Given the description of an element on the screen output the (x, y) to click on. 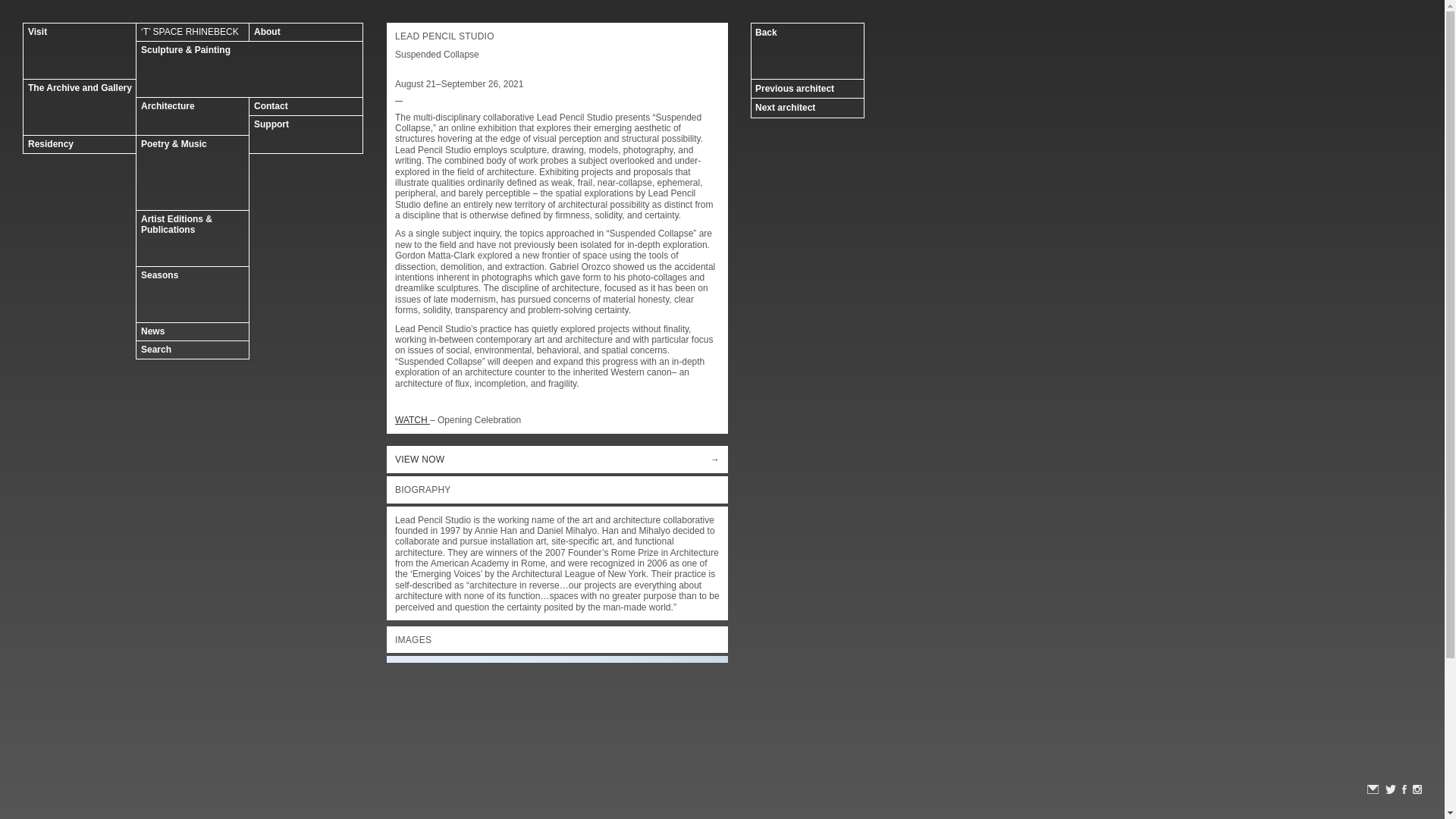
Next architect (807, 107)
WATCH (411, 419)
Search (192, 349)
Previous architect (807, 88)
The Archive and Gallery (79, 107)
About (305, 31)
Architecture (192, 116)
Support (305, 134)
Seasons (192, 294)
Back (807, 50)
